Given the description of an element on the screen output the (x, y) to click on. 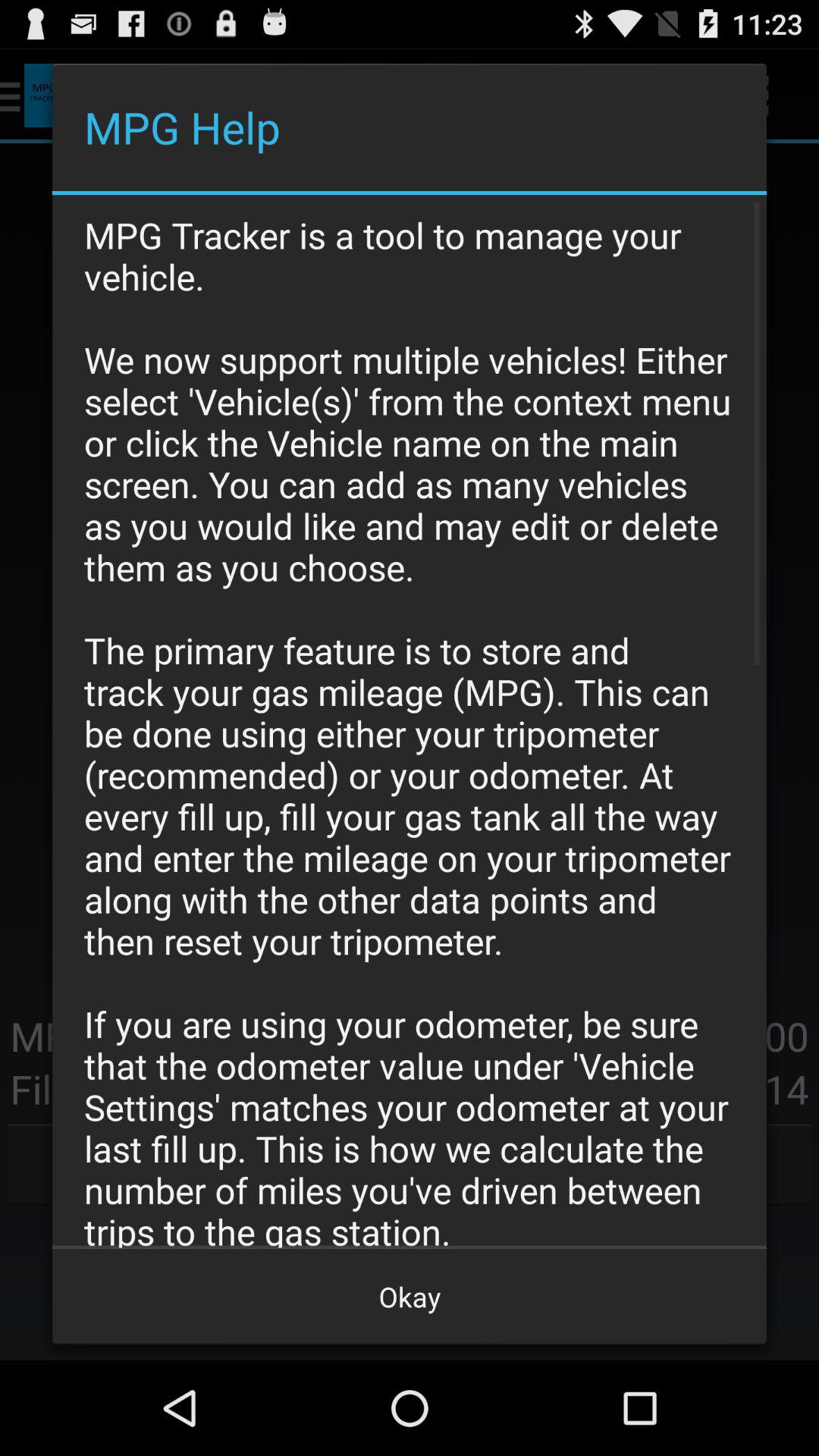
jump to the mpg tracker is item (409, 721)
